Given the description of an element on the screen output the (x, y) to click on. 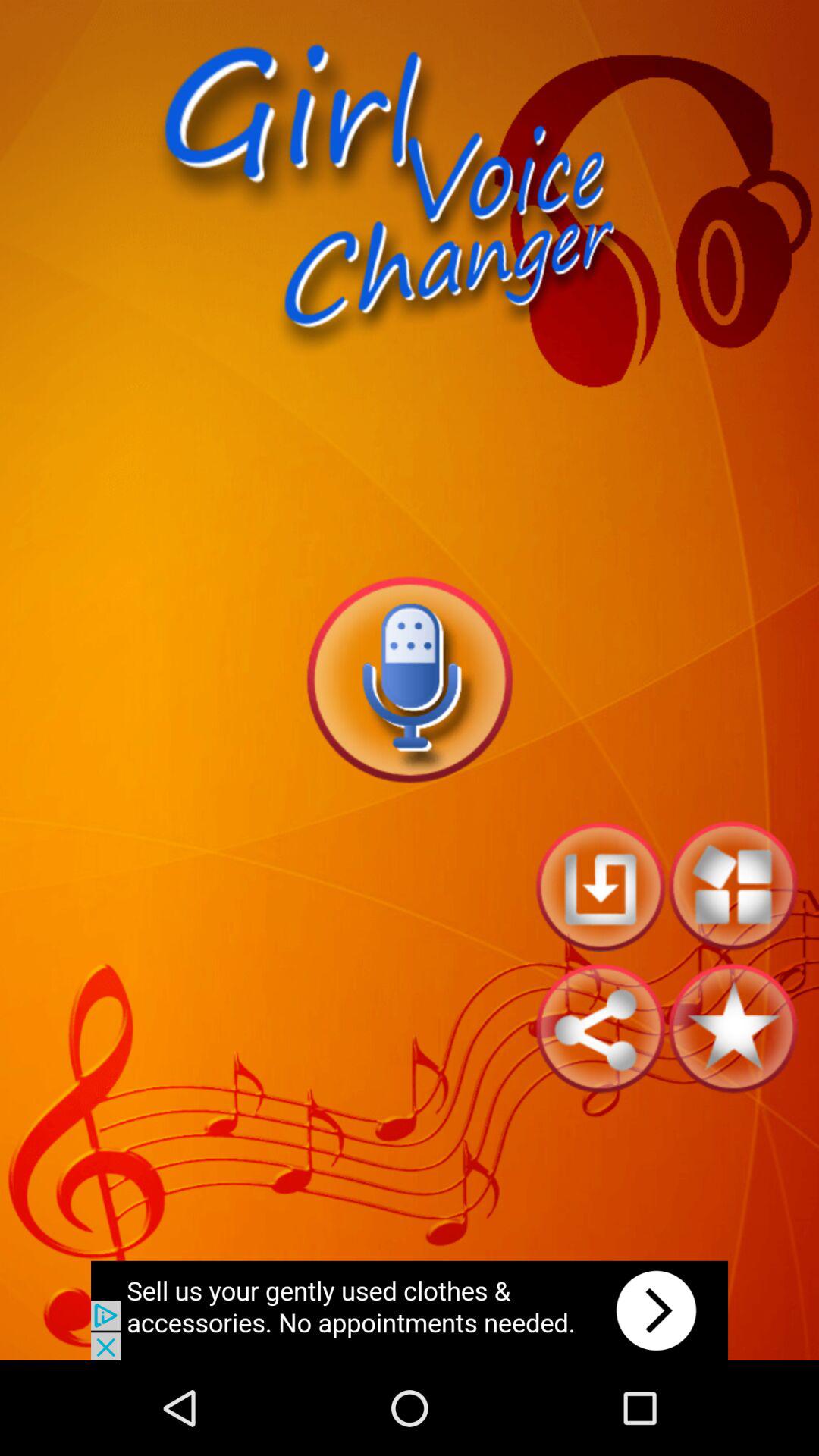
sync (600, 1028)
